Given the description of an element on the screen output the (x, y) to click on. 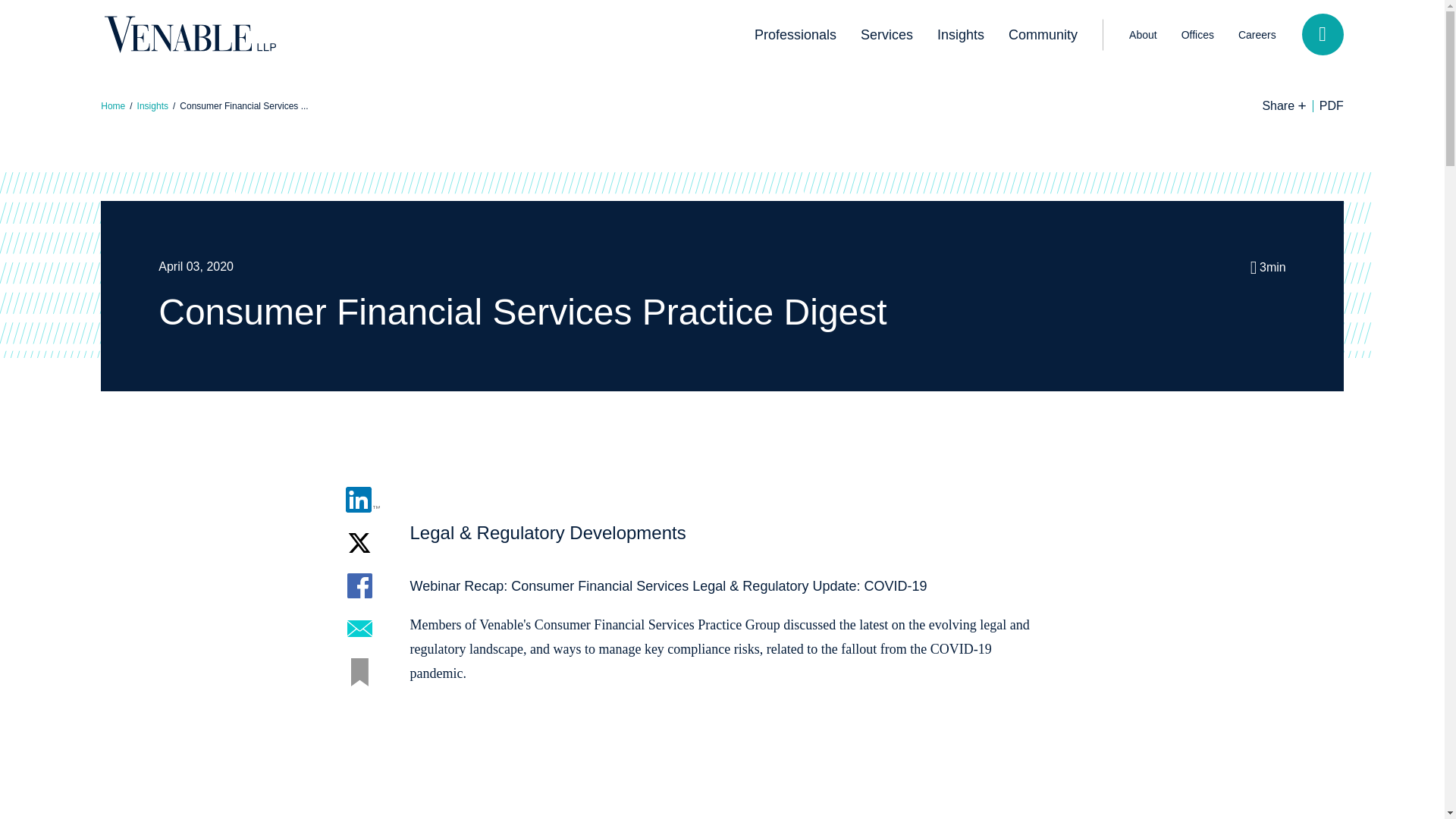
Community (1042, 34)
Home (112, 105)
Professionals (795, 34)
Services (886, 34)
Careers (1256, 34)
Insights (152, 105)
About (1142, 34)
Insights (959, 34)
Offices (1197, 34)
PDF (1331, 105)
